Given the description of an element on the screen output the (x, y) to click on. 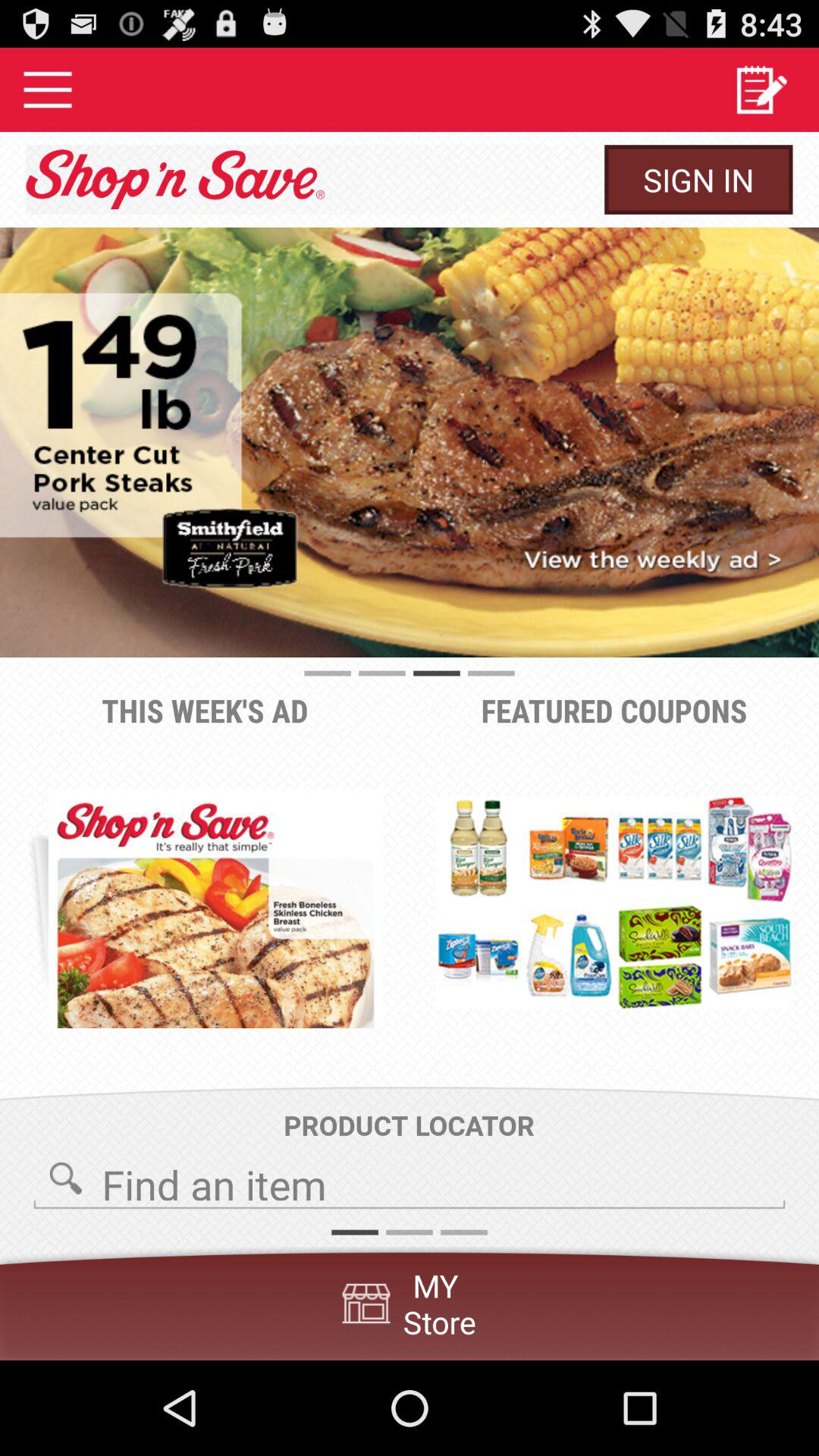
turn off item above product locator icon (215, 908)
